Given the description of an element on the screen output the (x, y) to click on. 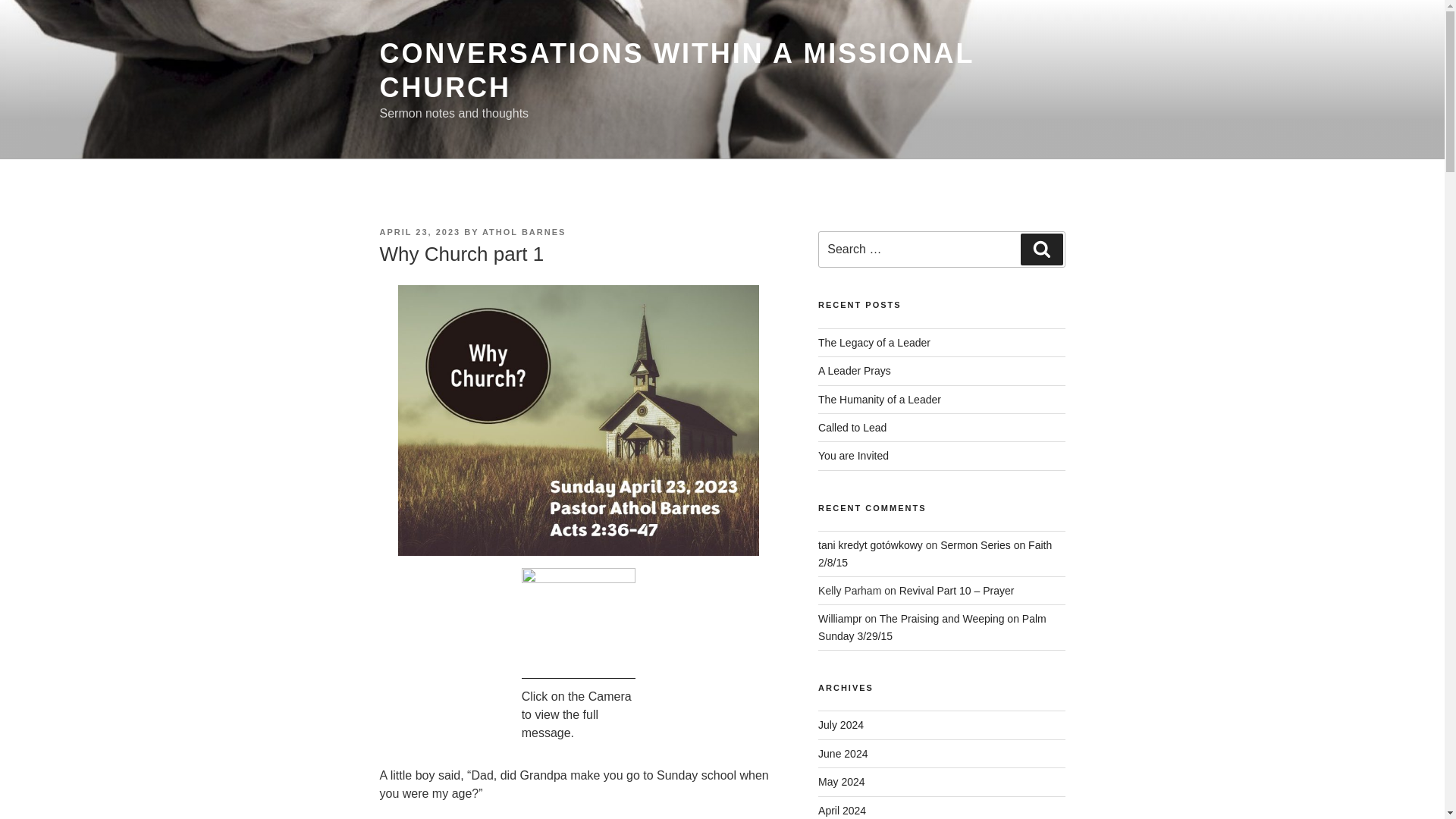
CONVERSATIONS WITHIN A MISSIONAL CHURCH (676, 70)
April 2024 (842, 810)
May 2024 (841, 781)
The Humanity of a Leader (879, 399)
Called to Lead (852, 427)
June 2024 (842, 753)
July 2024 (840, 725)
Williampr (839, 618)
APRIL 23, 2023 (419, 231)
A Leader Prays (854, 370)
ATHOL BARNES (523, 231)
You are Invited (853, 455)
The Legacy of a Leader (874, 342)
Search (1041, 249)
